Given the description of an element on the screen output the (x, y) to click on. 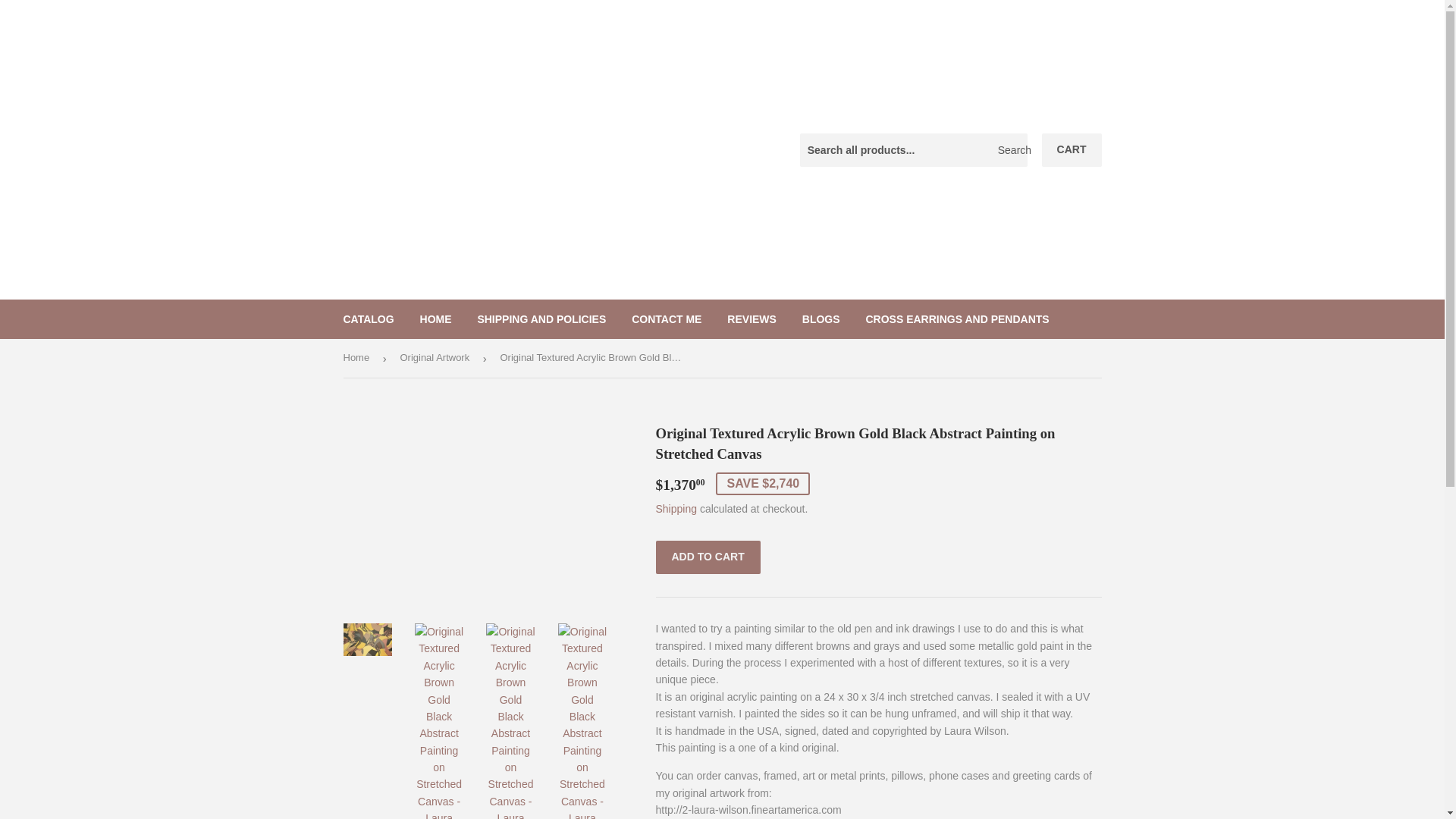
CART (1072, 150)
Search (1009, 151)
CATALOG (368, 319)
